Given the description of an element on the screen output the (x, y) to click on. 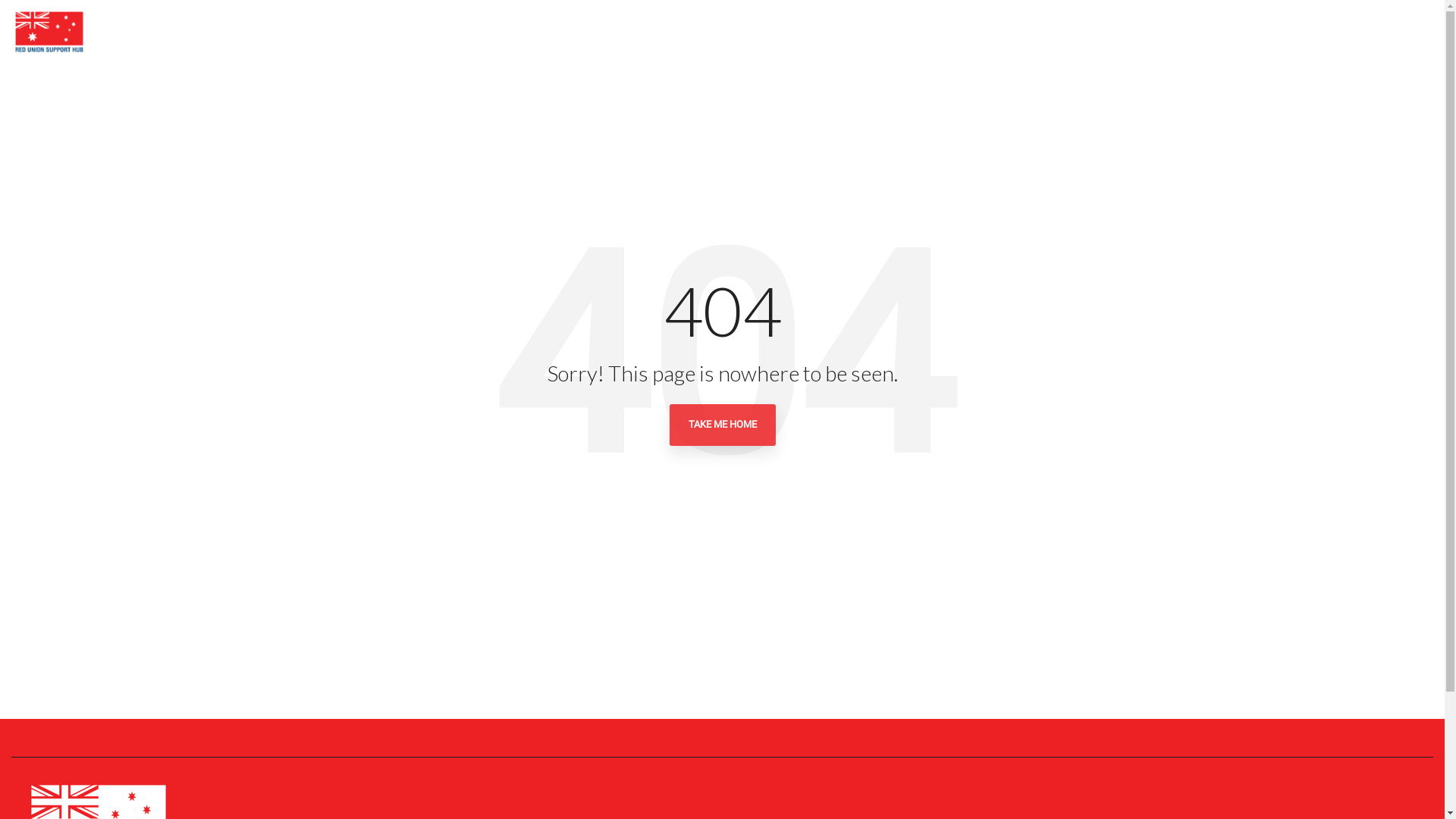
TAKE ME HOME Element type: text (721, 424)
